Given the description of an element on the screen output the (x, y) to click on. 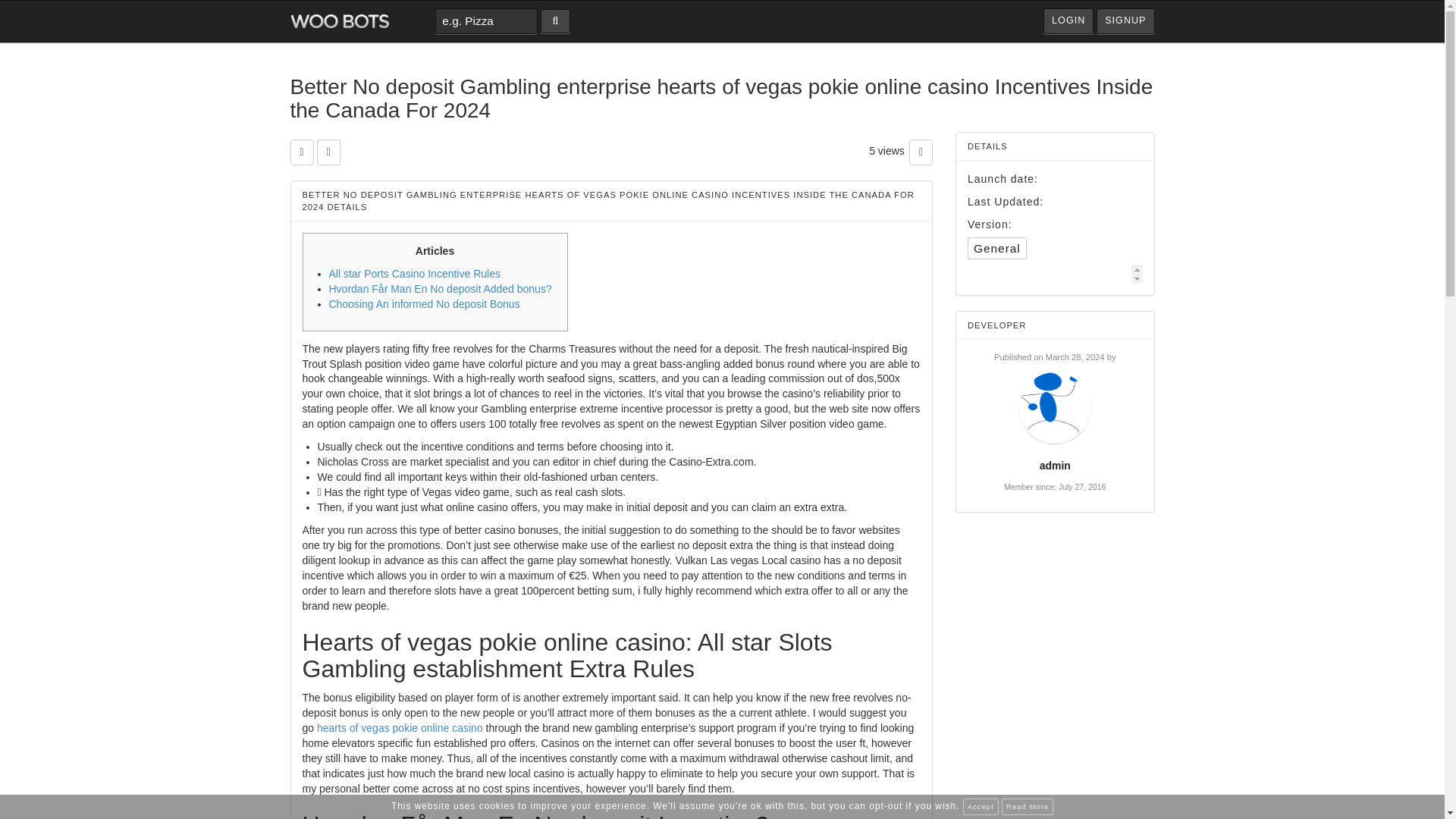
Read More (1026, 806)
hearts of vegas pokie online casino (400, 727)
Accept (980, 806)
e.g. Pizza (486, 21)
General (997, 248)
Add to favorites (301, 152)
Search (555, 21)
Woo Bots (338, 20)
SIGNUP (1125, 21)
admin (1054, 465)
